Given the description of an element on the screen output the (x, y) to click on. 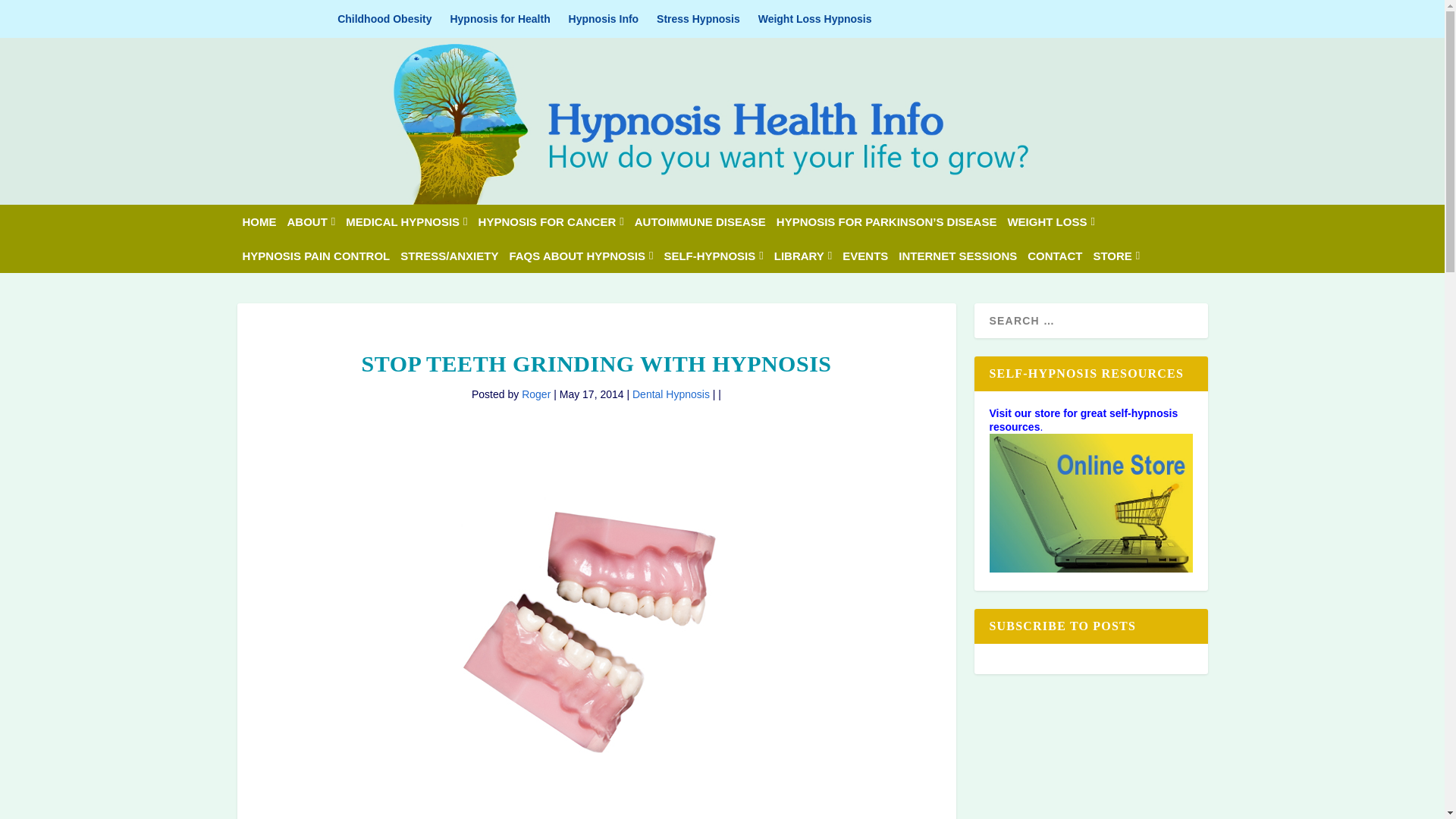
Hypnosis for Health (499, 18)
ABOUT (310, 221)
Weight Loss Hypnosis (815, 18)
HOME (259, 221)
MEDICAL HYPNOSIS (406, 221)
HYPNOSIS PAIN CONTROL (316, 255)
Stress Hypnosis (697, 18)
Childhood Obesity (383, 18)
AUTOIMMUNE DISEASE (699, 221)
Posts by Roger (535, 394)
